Given the description of an element on the screen output the (x, y) to click on. 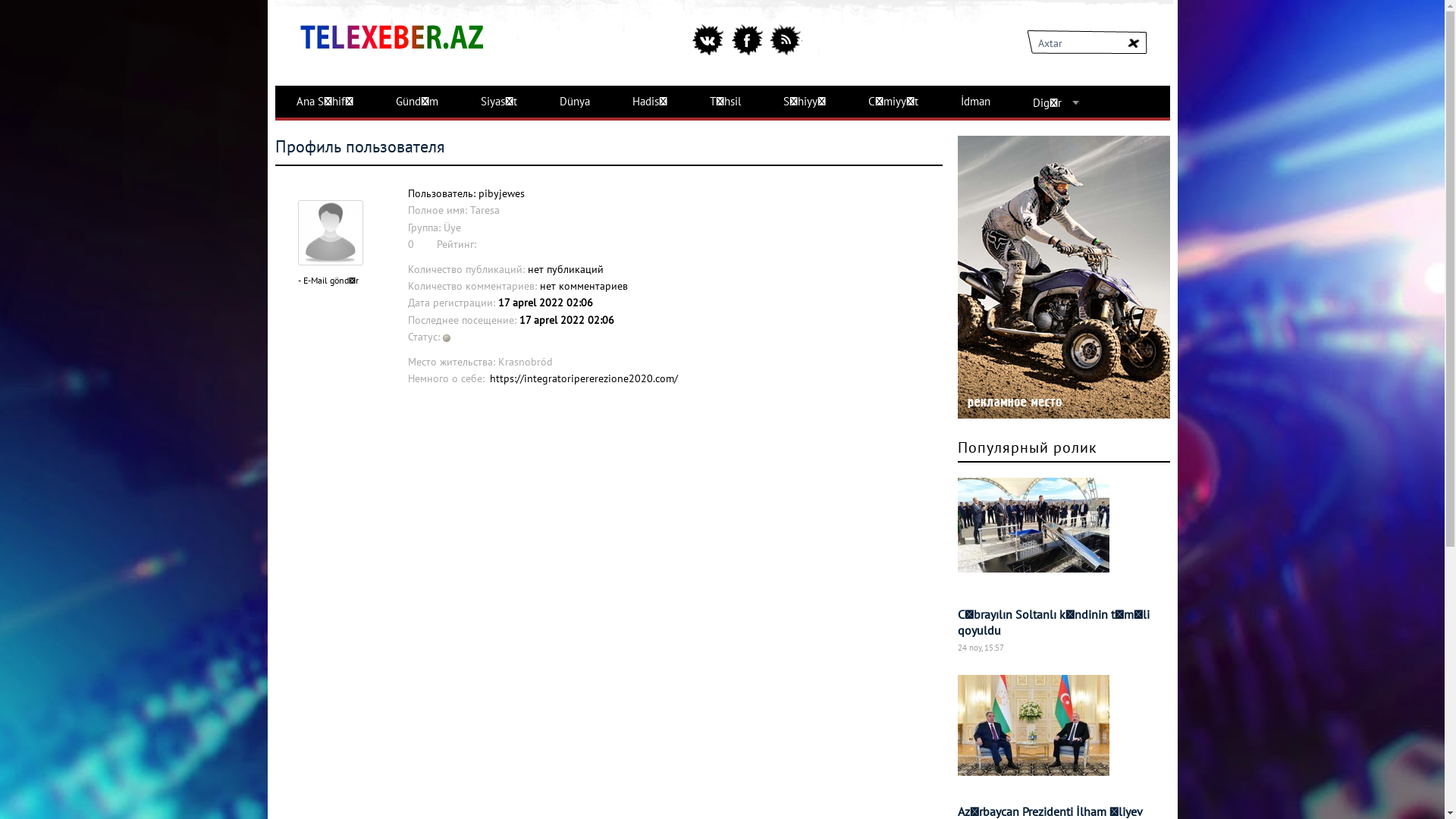
Axtar Element type: hover (1132, 42)
facebook Element type: hover (746, 39)
https://integratoripererezione2020.com/ Element type: text (581, 378)
